Given the description of an element on the screen output the (x, y) to click on. 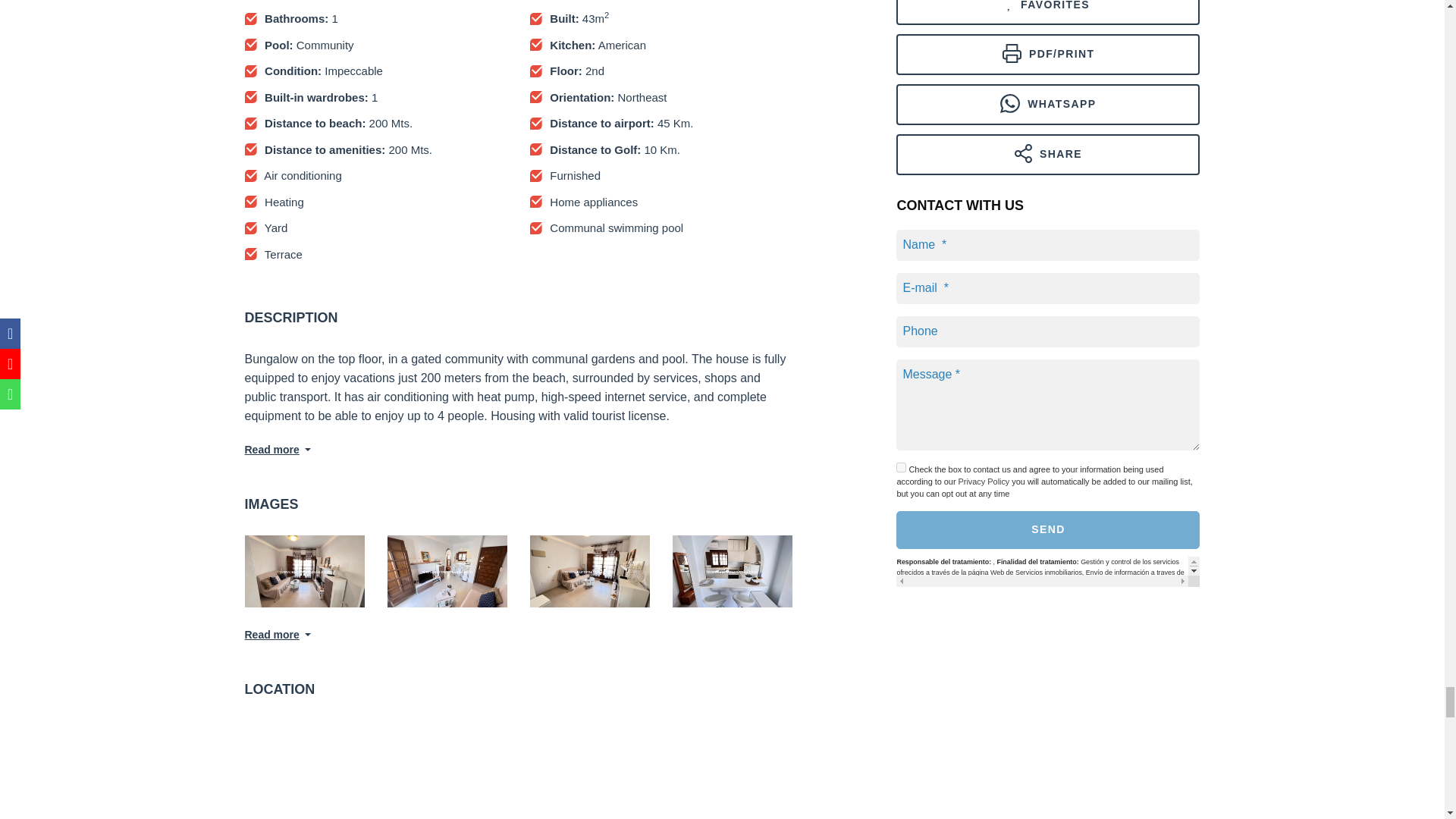
on (900, 467)
Send (1047, 529)
